Given the description of an element on the screen output the (x, y) to click on. 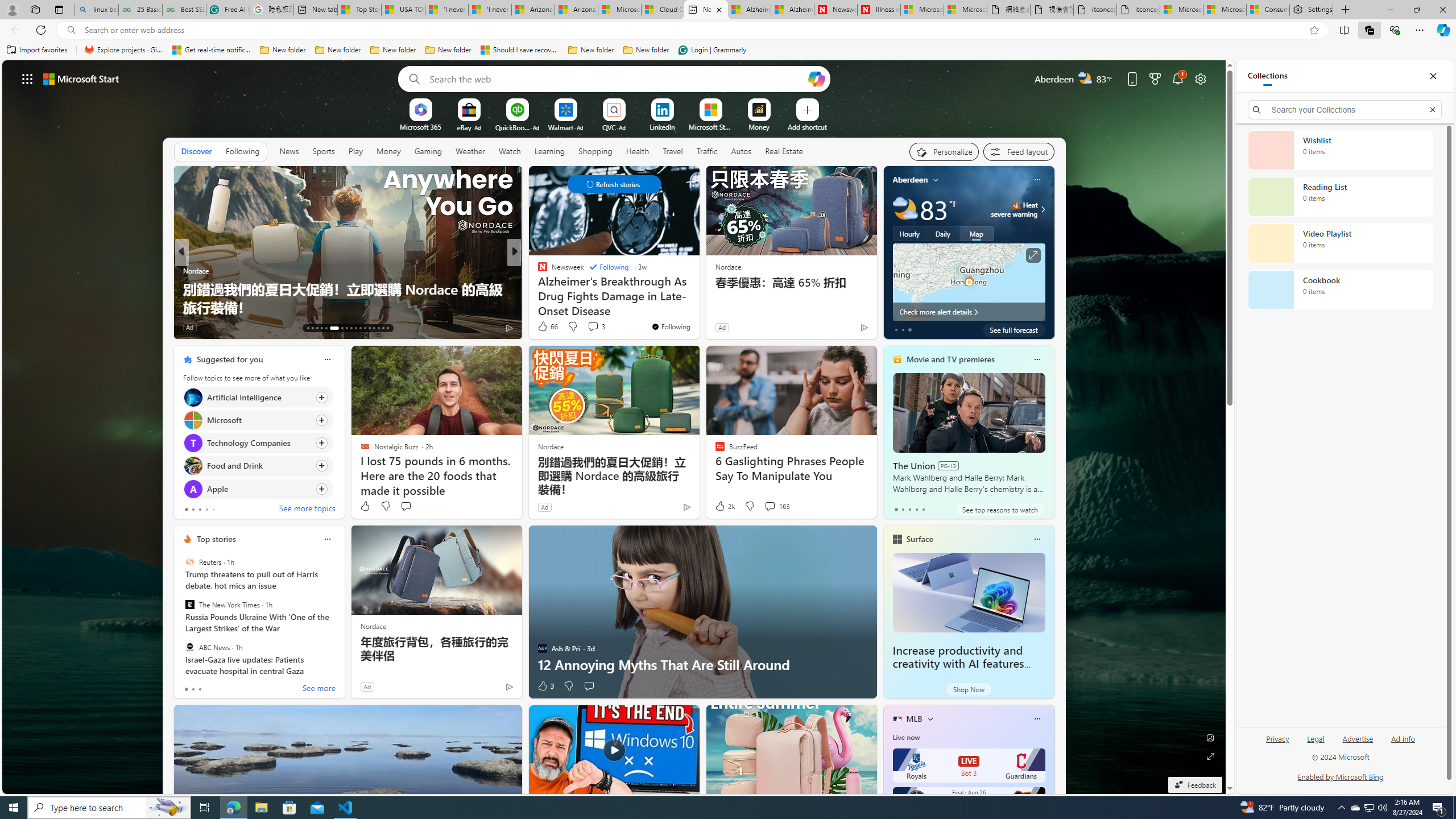
Sports (323, 151)
Food and Drink (192, 466)
ABC News (189, 646)
Gaming (428, 151)
Health (637, 151)
LinkedIn (662, 126)
